Given the description of an element on the screen output the (x, y) to click on. 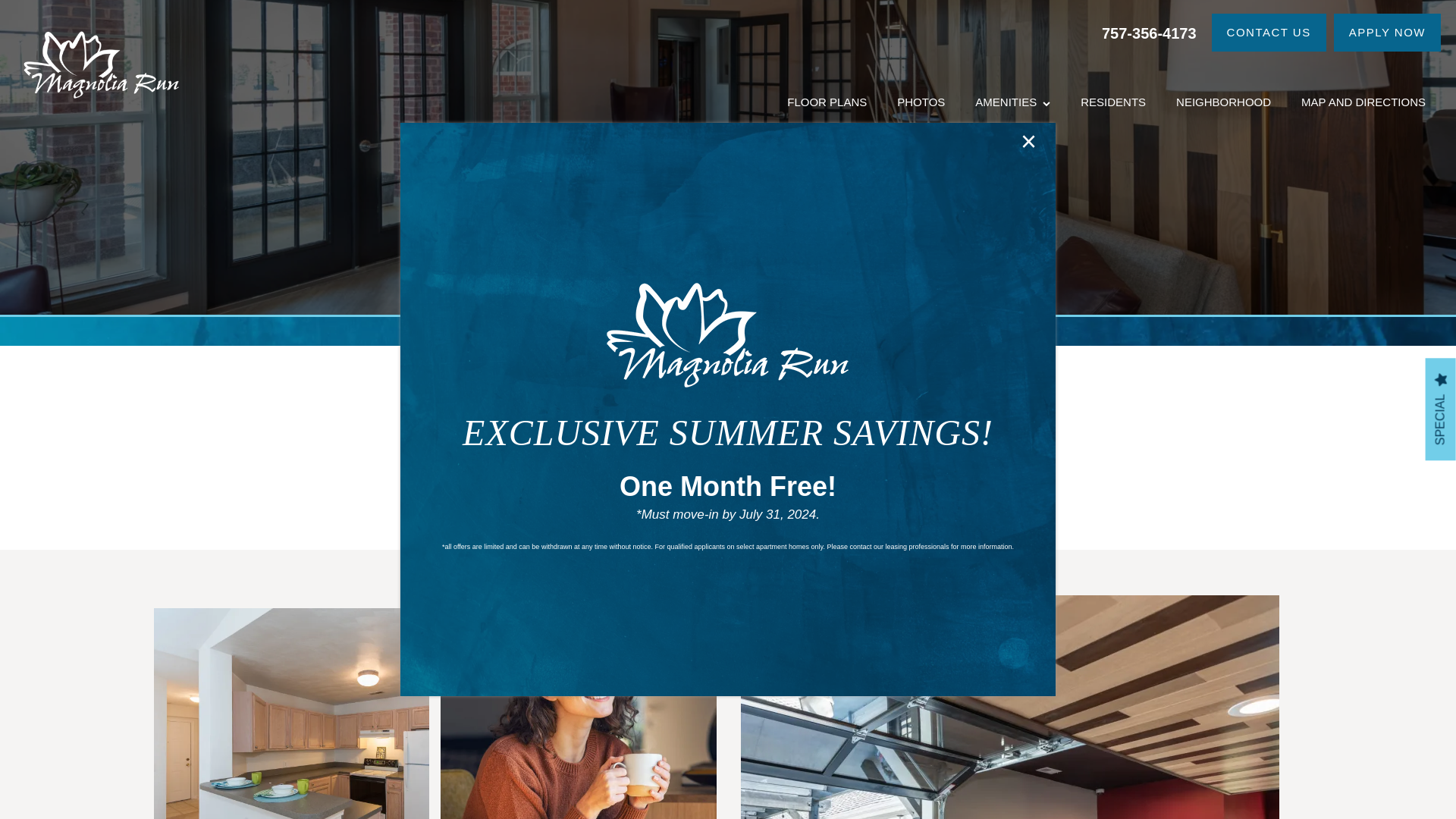
RESIDENTS (1112, 102)
MAP AND DIRECTIONS (1363, 102)
Property Phone Number (1149, 31)
757-356-4173 (1149, 31)
AMENITIES (1012, 102)
FLOOR PLANS (826, 102)
APPLY NOW (1387, 32)
PHOTOS (920, 102)
NEIGHBORHOOD (1222, 102)
CONTACT US (1268, 32)
